Given the description of an element on the screen output the (x, y) to click on. 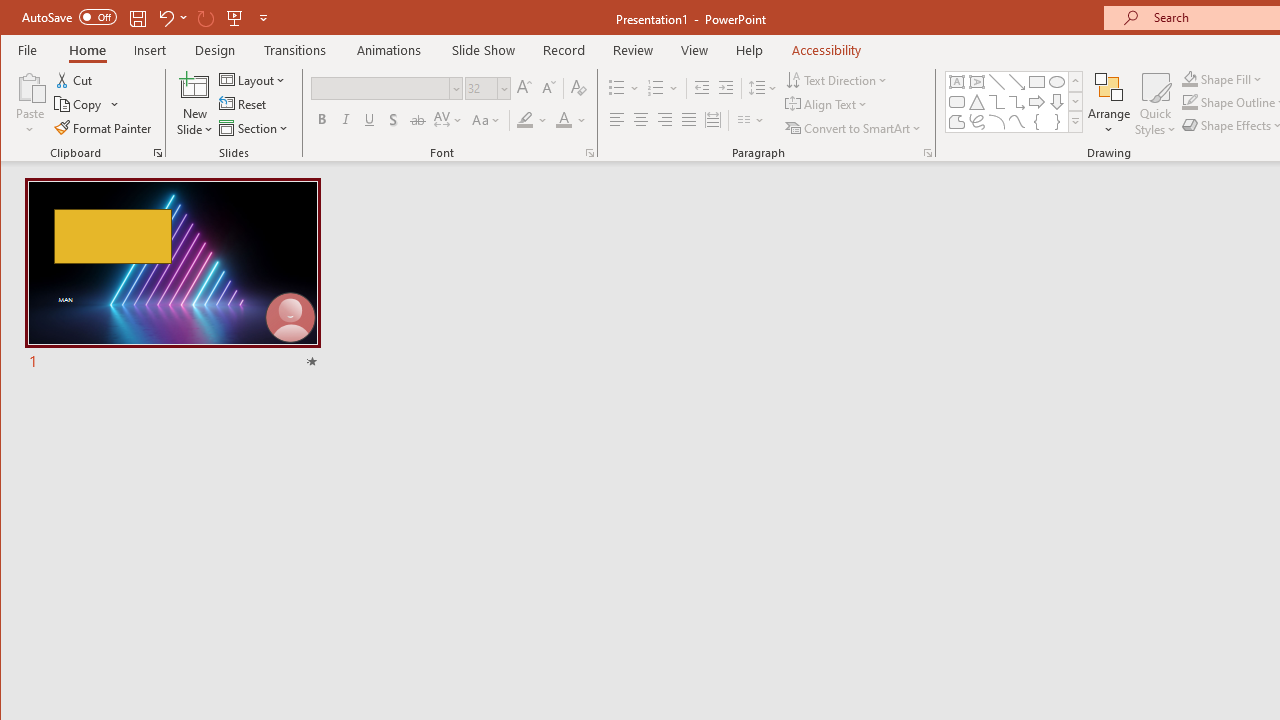
Left Brace (1036, 121)
Reset (244, 103)
Slide Show (482, 50)
Curve (1016, 121)
Text Highlight Color (532, 119)
Office Clipboard... (157, 152)
Isosceles Triangle (976, 102)
Convert to SmartArt (855, 127)
Font Color Red (563, 119)
Line Arrow (1016, 82)
Format Painter (104, 127)
Underline (369, 119)
Bold (321, 119)
Bullets (623, 88)
Change Case (486, 119)
